Given the description of an element on the screen output the (x, y) to click on. 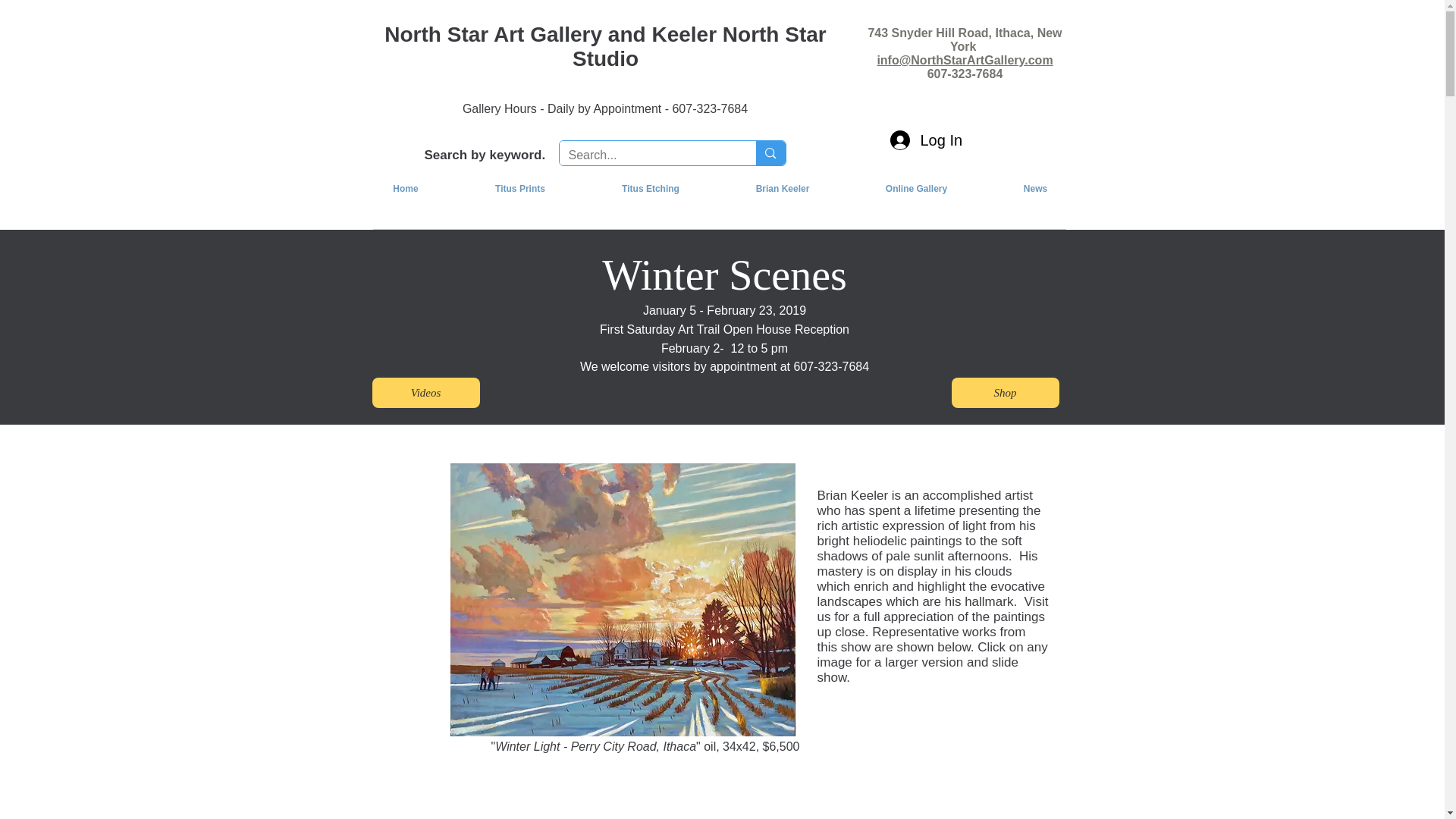
Brian Keeler (782, 189)
Titus Etching (650, 189)
Online Gallery (916, 189)
News (1035, 189)
Titus Prints (520, 189)
Shop (1004, 392)
Log In (922, 140)
Home (406, 189)
Videos (425, 392)
